Given the description of an element on the screen output the (x, y) to click on. 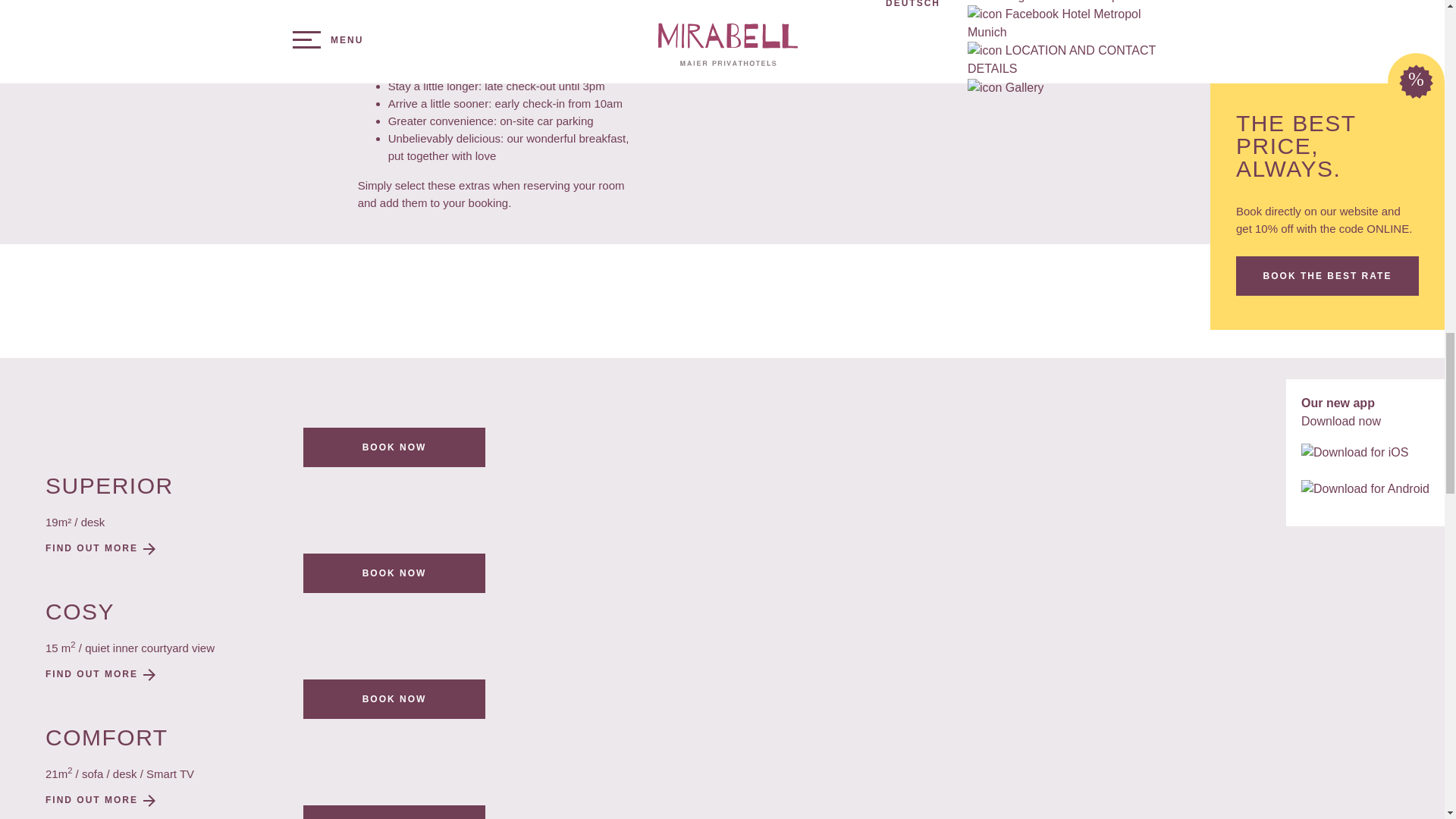
Book now (393, 812)
Book now (393, 699)
BOOK NOW (393, 446)
Book now (393, 572)
Book now (393, 446)
